Given the description of an element on the screen output the (x, y) to click on. 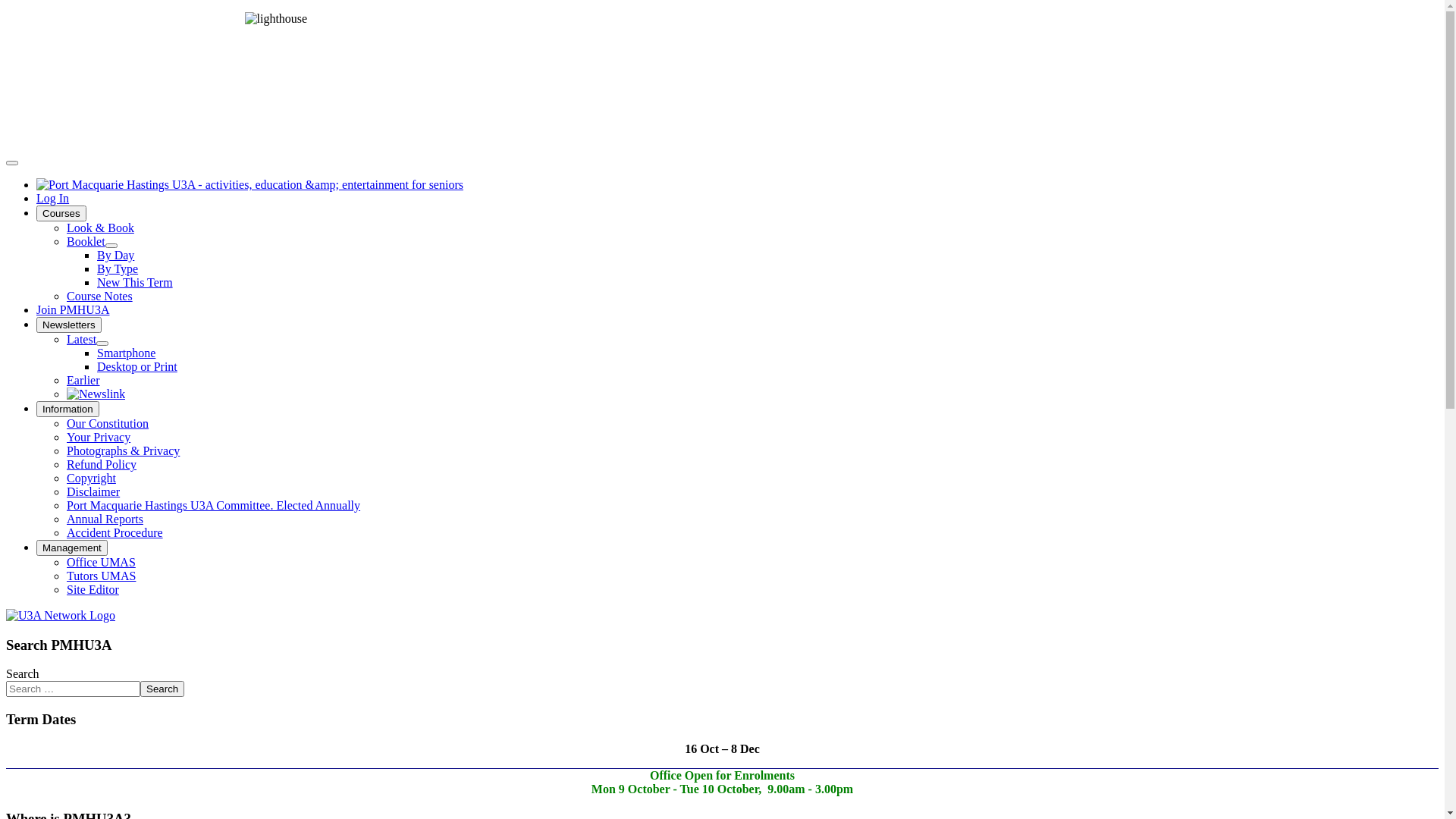
The newsletter of the NSW U3A Element type: hover (95, 393)
Course Notes Element type: text (99, 295)
Disclaimer Element type: text (92, 491)
New This Term Element type: text (134, 282)
Desktop or Print Element type: text (137, 366)
Office UMAS Element type: text (100, 561)
Newsletters Element type: text (68, 324)
Your Privacy Element type: text (98, 436)
Refund Policy Element type: text (101, 464)
Photographs & Privacy Element type: text (122, 450)
Booklet Element type: text (85, 241)
Management Element type: text (71, 547)
Search Element type: text (162, 688)
Copyright Element type: text (91, 477)
Accident Procedure Element type: text (114, 532)
Log In Element type: text (52, 197)
Annual Reports Element type: text (104, 518)
Latest Element type: text (81, 338)
Courses Element type: text (61, 213)
Site Editor Element type: text (92, 589)
Our Constitution Element type: text (107, 423)
Look & Book Element type: text (100, 227)
By Type Element type: text (117, 268)
Port Macquarie Hastings U3A Committee. Elected Annually Element type: text (213, 504)
U3A Network NSW Element type: hover (60, 614)
Earlier Element type: text (83, 379)
Join PMHU3A Element type: text (72, 309)
Tutors UMAS Element type: text (100, 575)
Smartphone Element type: text (126, 352)
By Day Element type: text (115, 254)
Information Element type: text (67, 409)
